Given the description of an element on the screen output the (x, y) to click on. 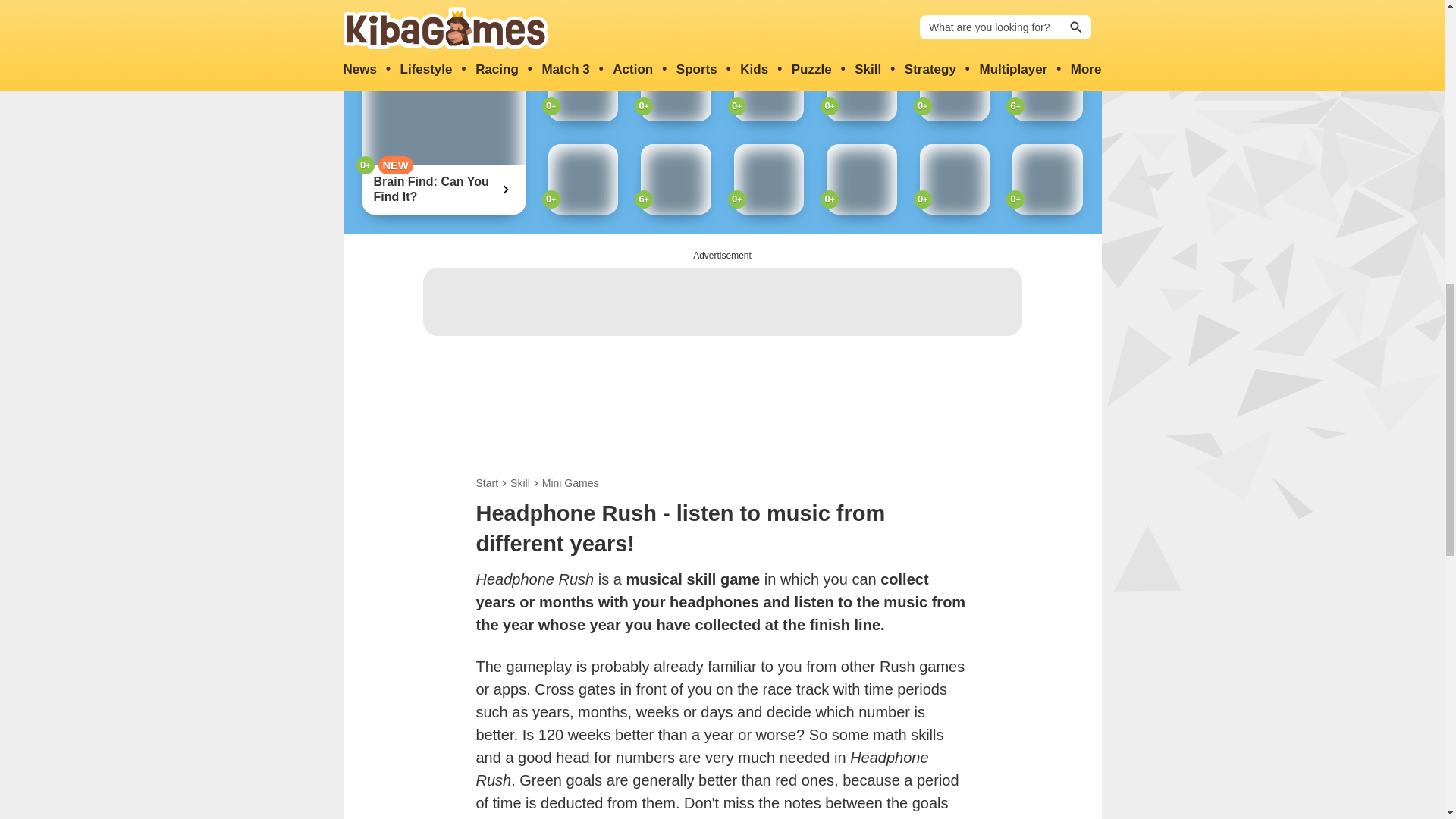
Brain Find: Can You Find It? (434, 189)
Brain Find: Can You Find It? (434, 189)
Skill (520, 482)
Start (487, 482)
Skill (520, 482)
Mini Games (569, 482)
Start (487, 482)
